Given the description of an element on the screen output the (x, y) to click on. 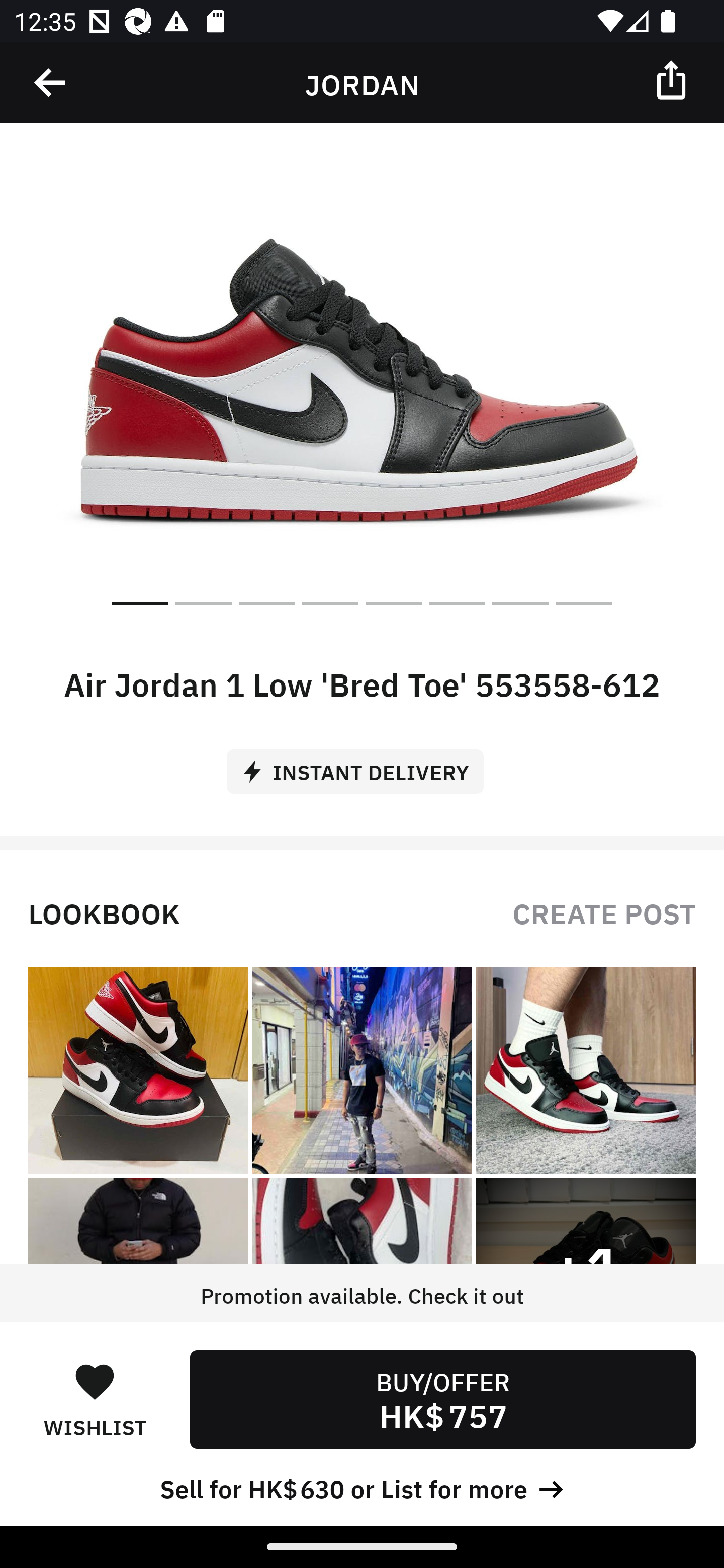
 (50, 83)
 (672, 79)
 INSTANT DELIVERY (362, 764)
CREATE POST (603, 911)
BUY/OFFER HK$ 757 (442, 1399)
󰋑 (94, 1380)
Sell for HK$ 630 or List for more (361, 1486)
